Given the description of an element on the screen output the (x, y) to click on. 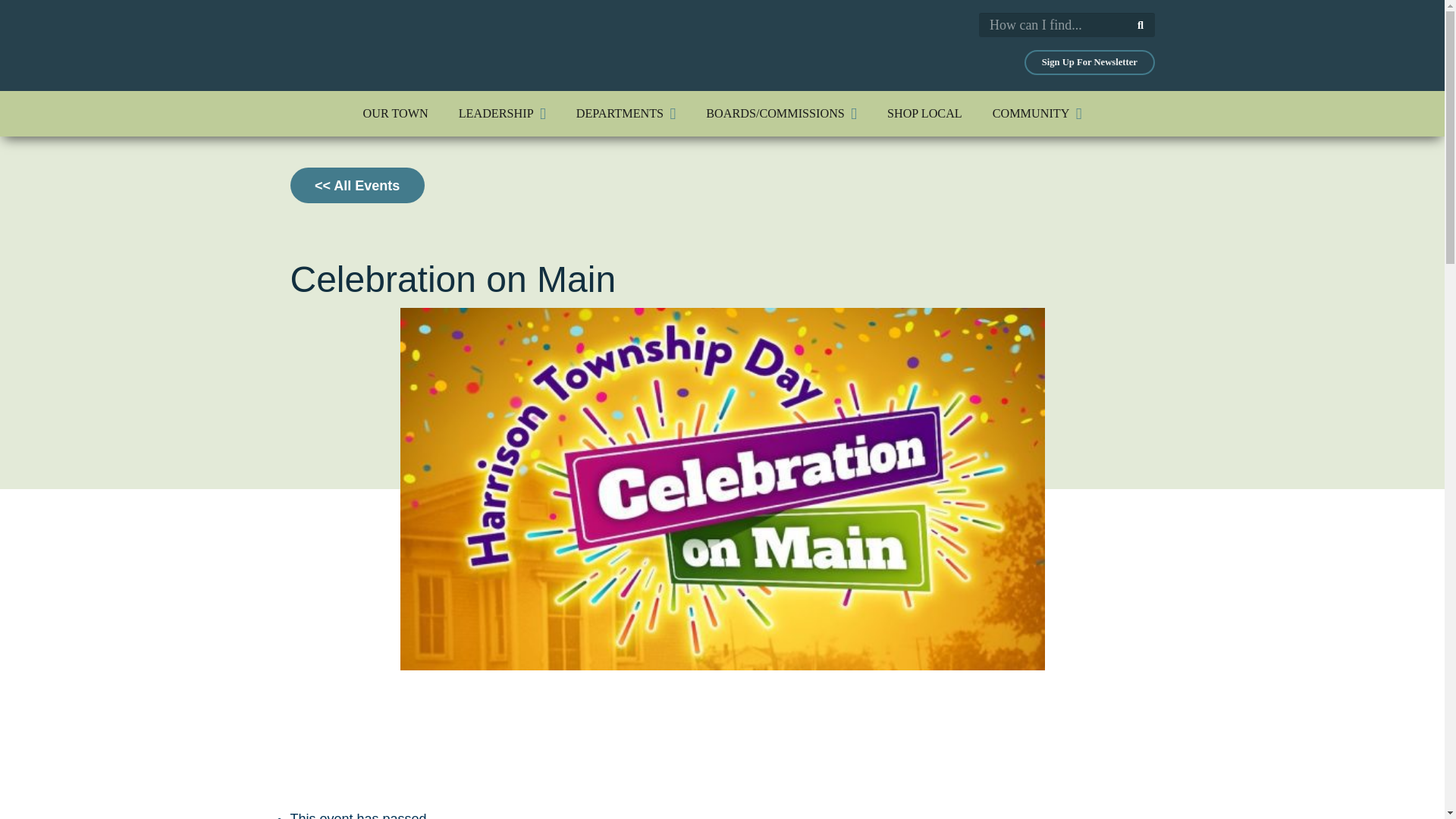
COMMUNITY (1036, 113)
LEADERSHIP (502, 113)
OUR TOWN (395, 113)
Sign Up For Newsletter (1089, 62)
SHOP LOCAL (924, 113)
DEPARTMENTS (625, 113)
